Given the description of an element on the screen output the (x, y) to click on. 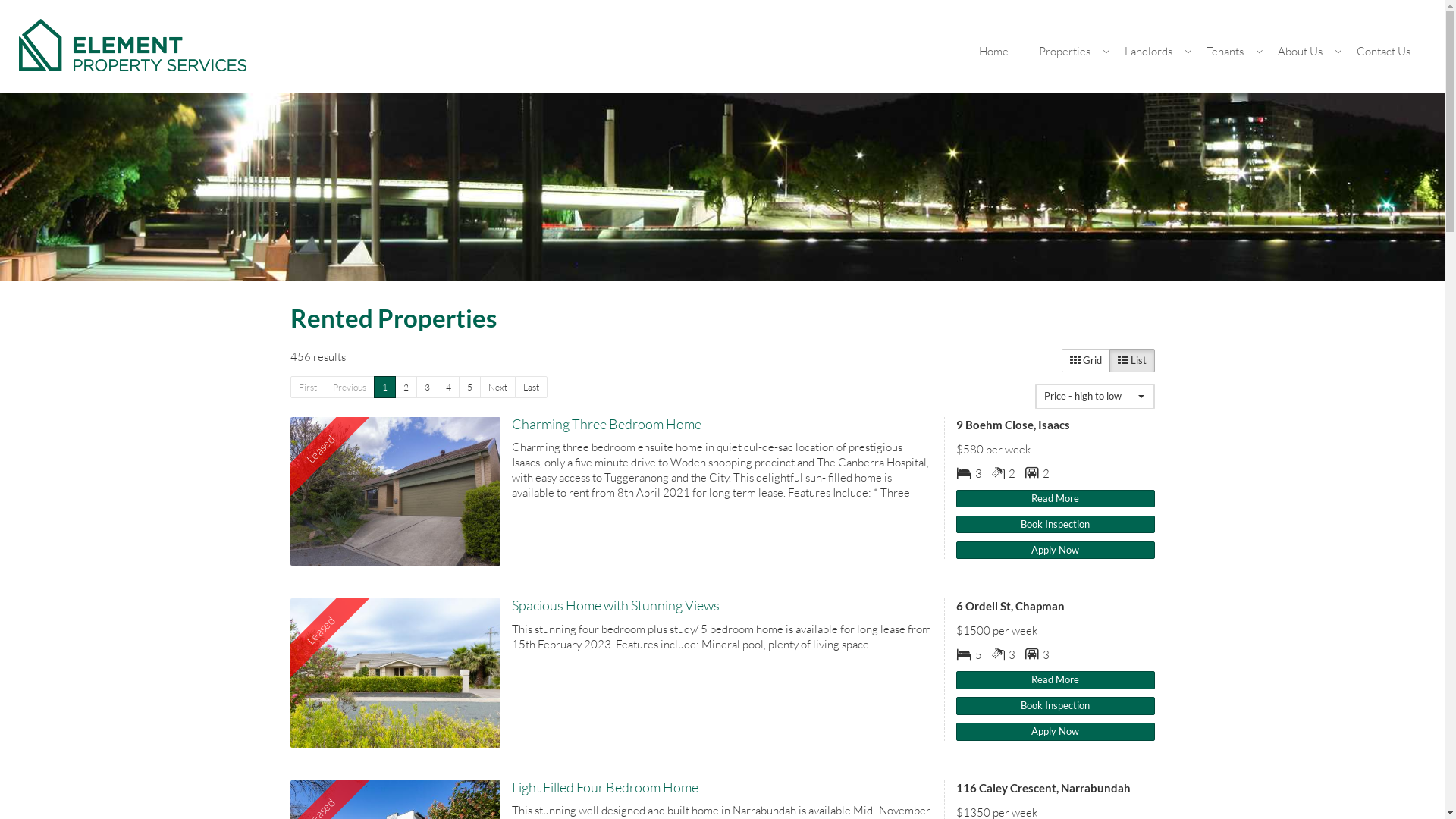
Apply Now Element type: text (1055, 731)
Price - high to low
  Element type: text (1094, 396)
Contact Us Element type: text (1383, 51)
About Us Element type: text (1301, 51)
Last Element type: text (530, 387)
5 Element type: text (469, 387)
Home Element type: text (993, 51)
6 Ordell St, Chapman Element type: hover (394, 672)
First Element type: text (306, 387)
9 Boehm Close, Isaacs Element type: hover (394, 491)
Read More Element type: text (1055, 680)
3 Element type: text (426, 387)
Previous Element type: text (349, 387)
Book Inspection Element type: text (1055, 524)
Next Element type: text (496, 387)
Read More Element type: text (1055, 498)
Properties Element type: text (1066, 51)
Apply Now Element type: text (1055, 550)
1 Element type: text (384, 387)
Landlords Element type: text (1150, 51)
Tenants Element type: text (1226, 51)
Book Inspection Element type: text (1055, 705)
2 Element type: text (405, 387)
Element Property Services Element type: hover (132, 43)
4 Element type: text (447, 387)
